Given the description of an element on the screen output the (x, y) to click on. 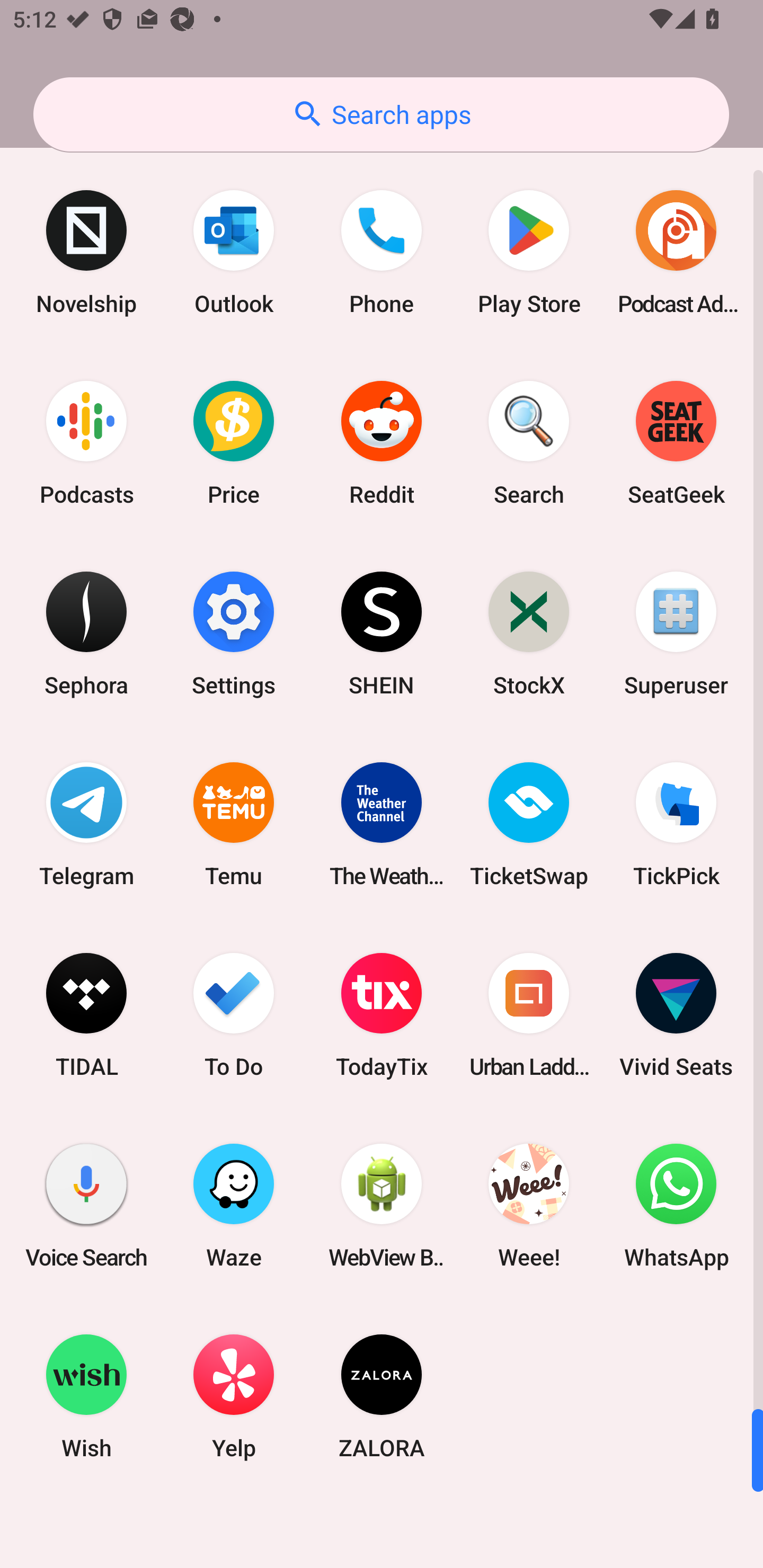
Yelp (233, 1396)
